Given the description of an element on the screen output the (x, y) to click on. 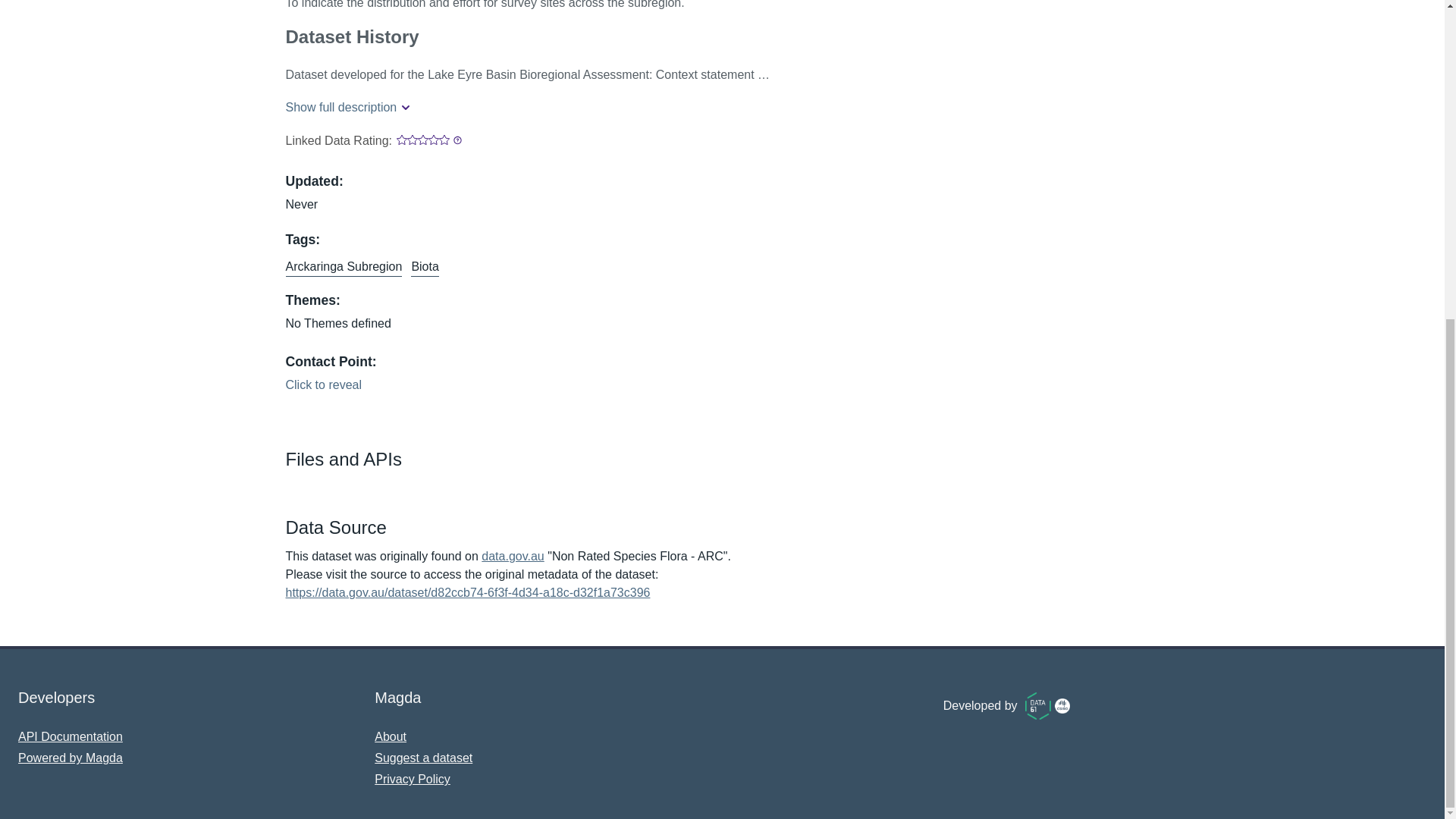
Help IconHelp Icon (455, 141)
Show full description (343, 107)
Suggest a dataset (422, 757)
Empty StarEmpty Star Icon (401, 140)
Arckaringa Subregion (343, 266)
About (390, 736)
Biota (424, 266)
Privacy Policy (411, 779)
Powered by Magda (69, 757)
Help IconHelp Icon (455, 140)
data.gov.au (512, 555)
Click to reveal (325, 385)
Empty StarEmpty Star Icon (412, 140)
Empty StarEmpty Star Icon (444, 140)
Empty StarEmpty Star Icon (433, 140)
